Given the description of an element on the screen output the (x, y) to click on. 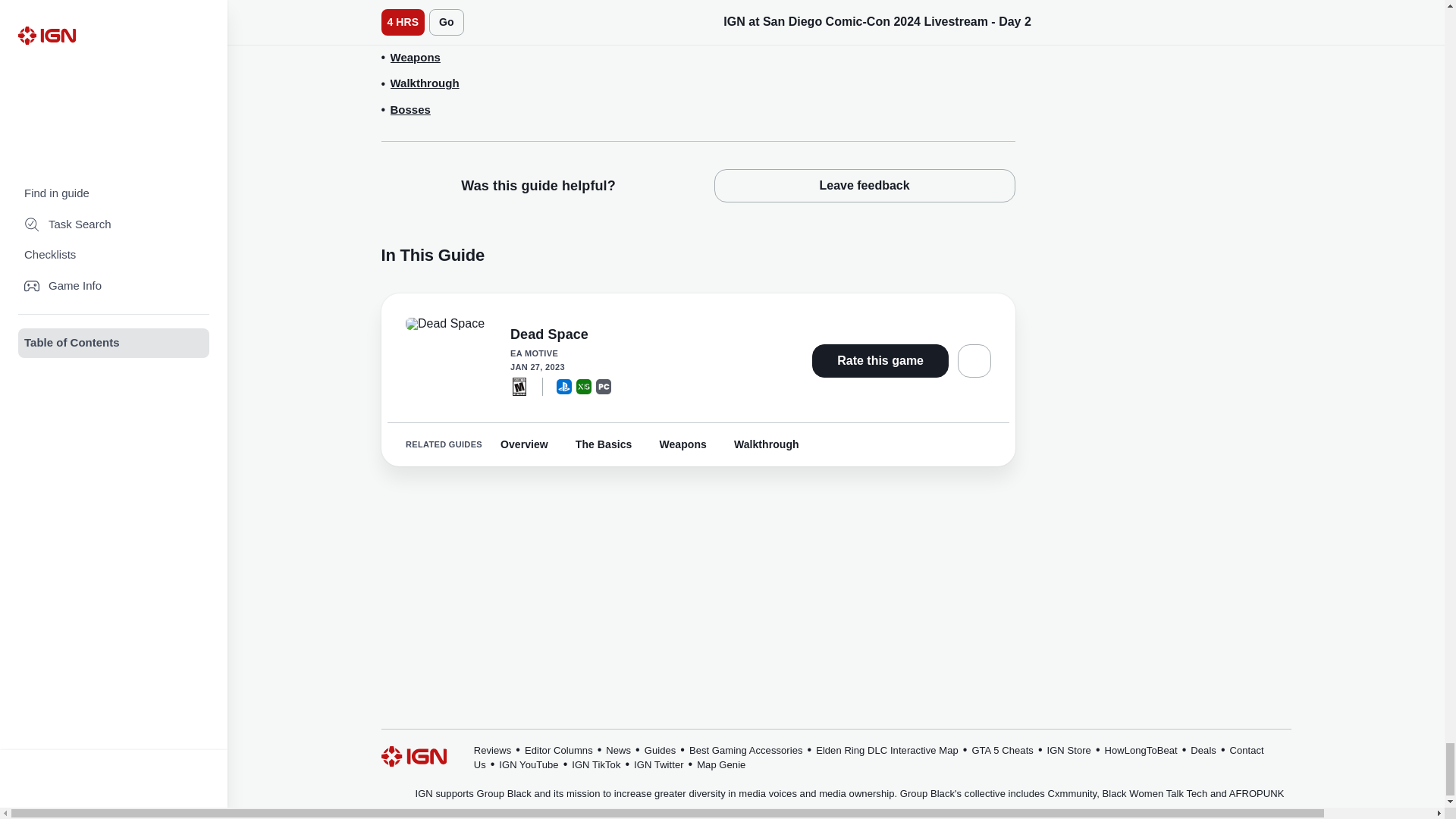
ESRB: Mature (518, 385)
PC (603, 385)
PlayStation 5 (564, 385)
